Given the description of an element on the screen output the (x, y) to click on. 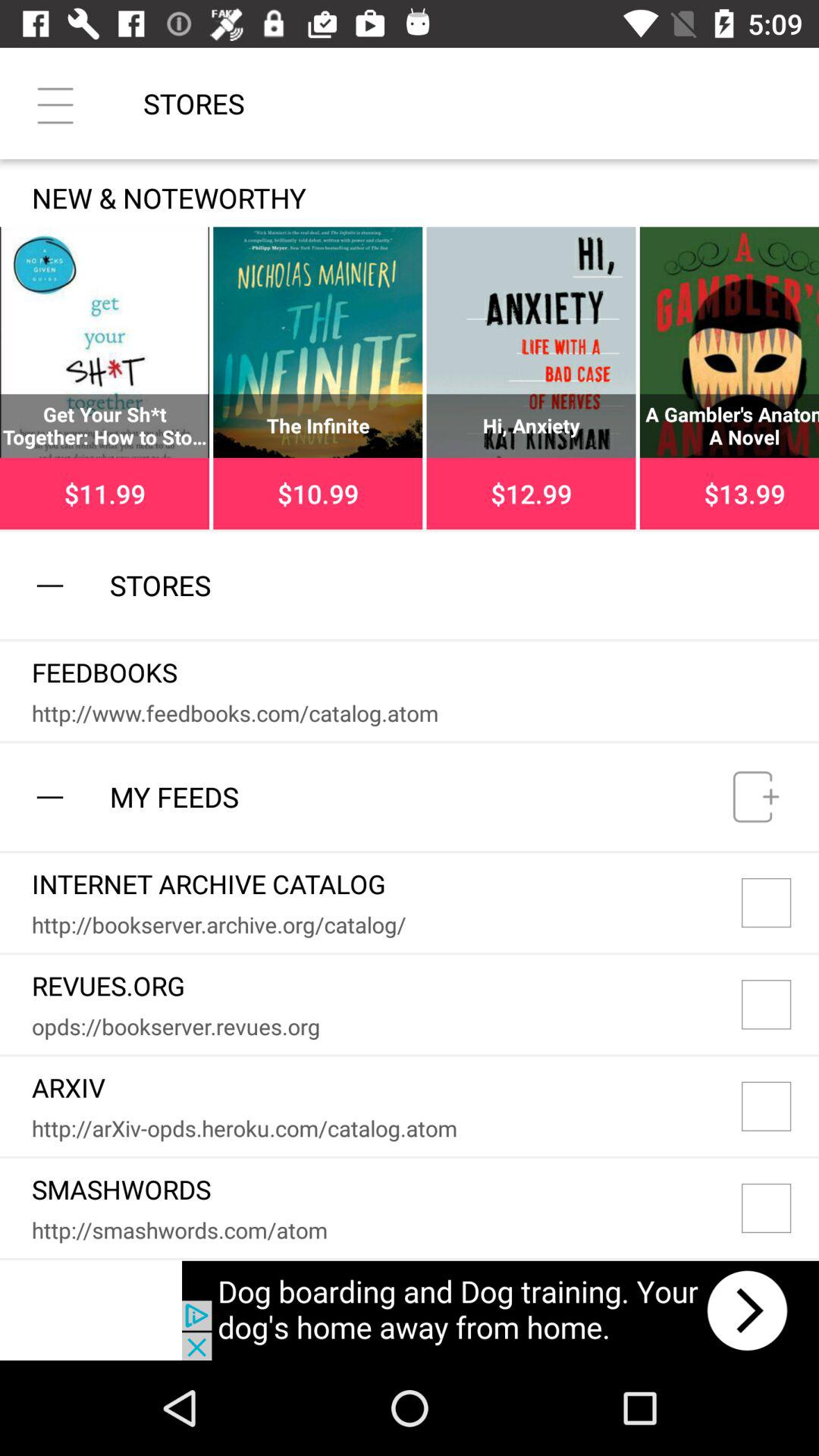
select item (780, 1004)
